Given the description of an element on the screen output the (x, y) to click on. 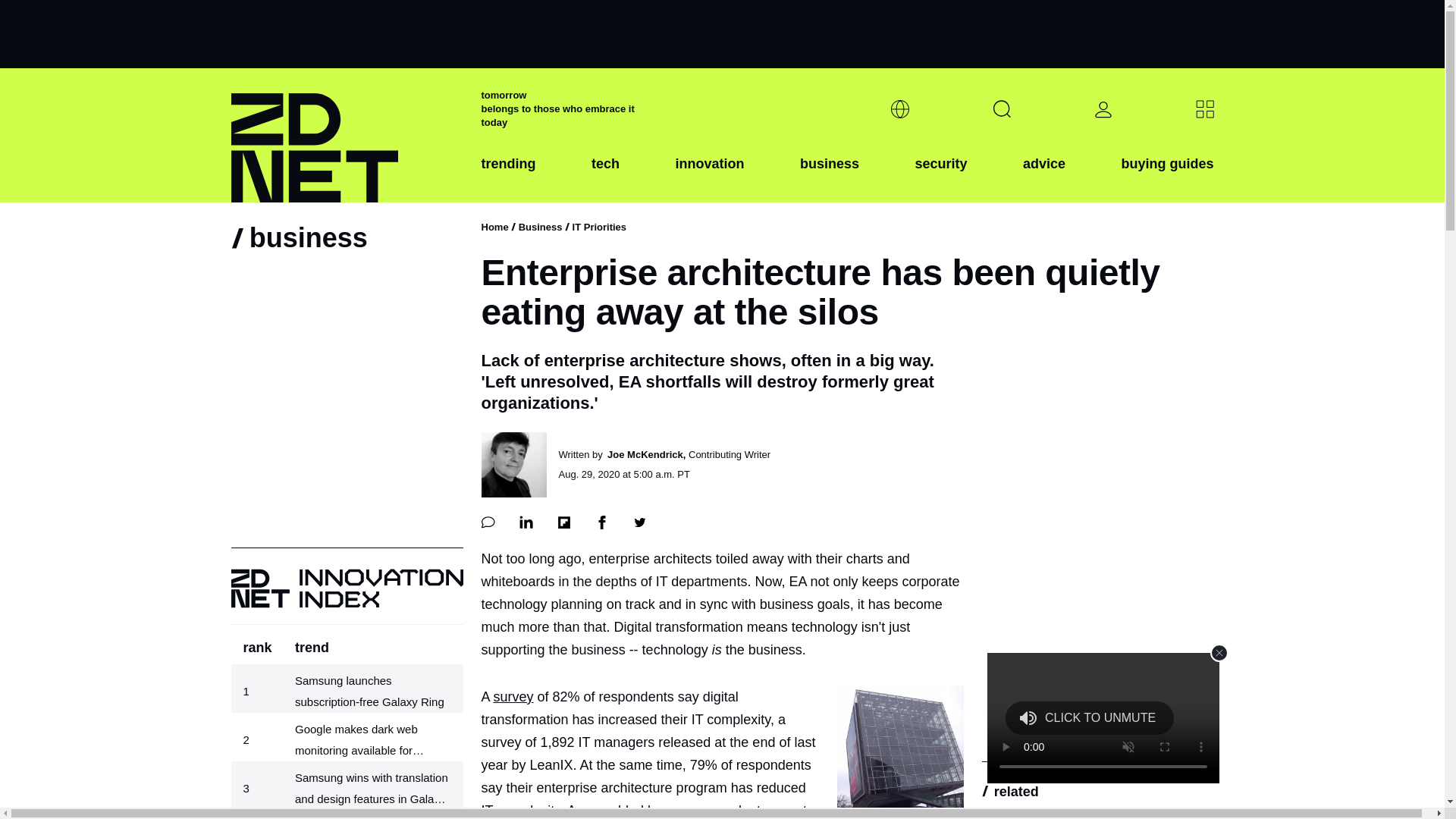
3rd party ad content (1097, 642)
3rd party ad content (721, 33)
trending (507, 175)
tech (605, 175)
ZDNET (346, 134)
